Given the description of an element on the screen output the (x, y) to click on. 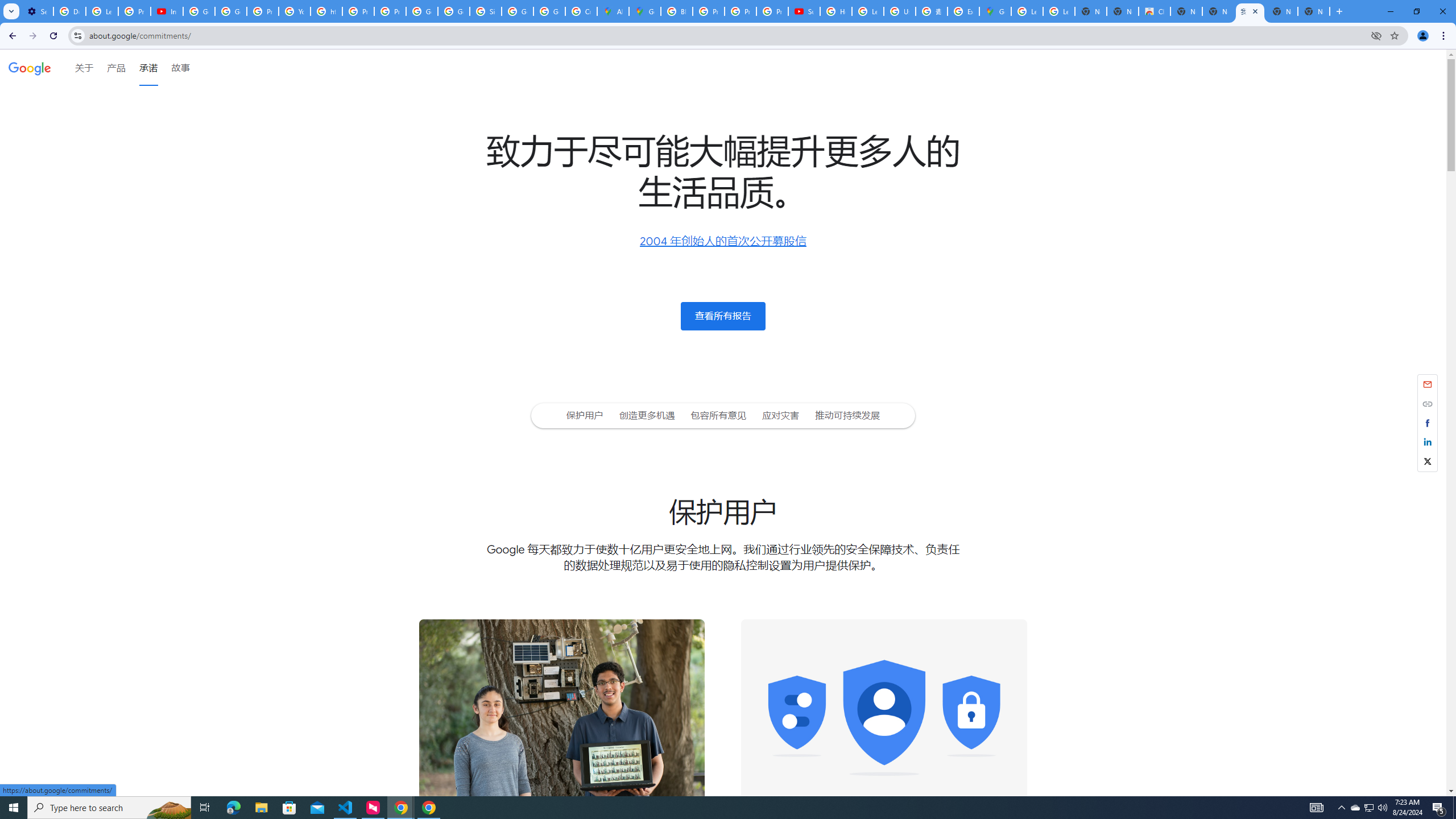
Privacy Help Center - Policies Help (358, 11)
Explore new street-level details - Google Maps Help (963, 11)
